Given the description of an element on the screen output the (x, y) to click on. 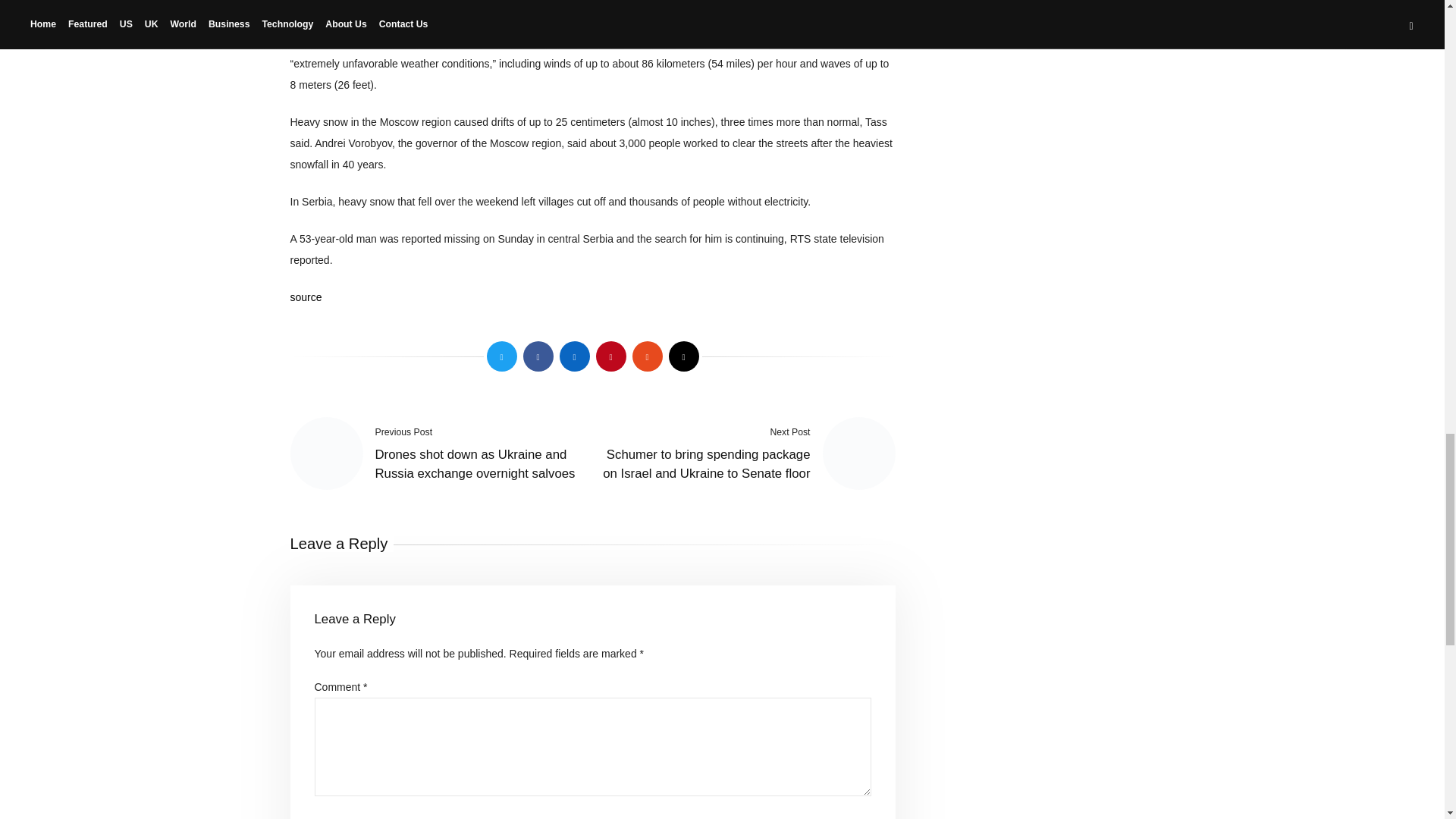
Share on LinkedIn (574, 356)
Pin this! (610, 356)
Share on Email (683, 356)
source (305, 297)
Share on Facebook (537, 356)
Share on Reddit (646, 356)
Tweet This! (501, 356)
